Given the description of an element on the screen output the (x, y) to click on. 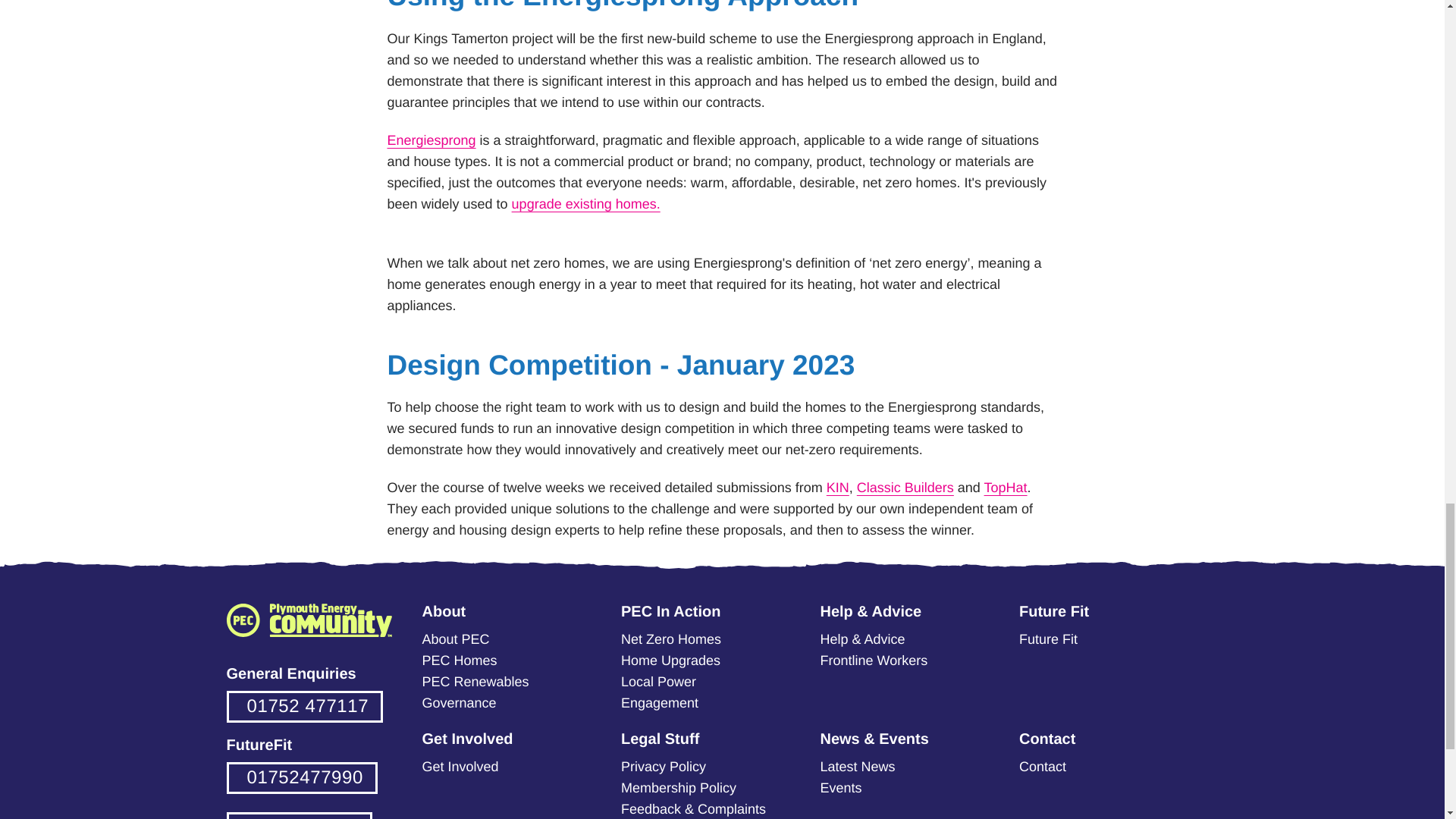
Local Power (658, 681)
Net Zero Homes (670, 639)
Energiesprong (431, 140)
Frontline Workers (873, 660)
upgrade existing homes. (586, 203)
TopHat (1005, 487)
PEC Homes (459, 660)
Engagement (659, 702)
Governance (459, 702)
01752 477117 (303, 706)
